Given the description of an element on the screen output the (x, y) to click on. 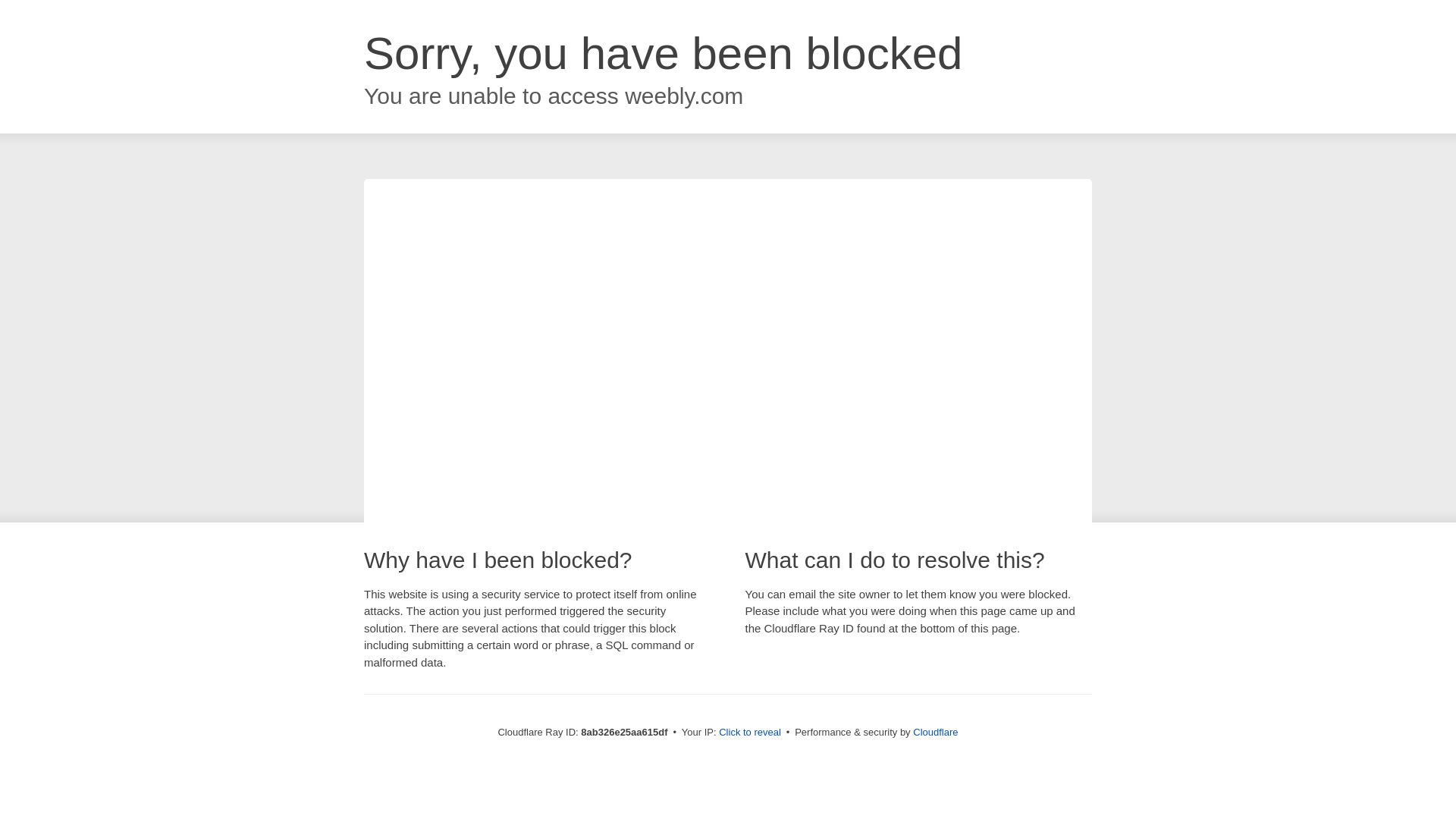
Cloudflare (935, 731)
Click to reveal (749, 732)
